Given the description of an element on the screen output the (x, y) to click on. 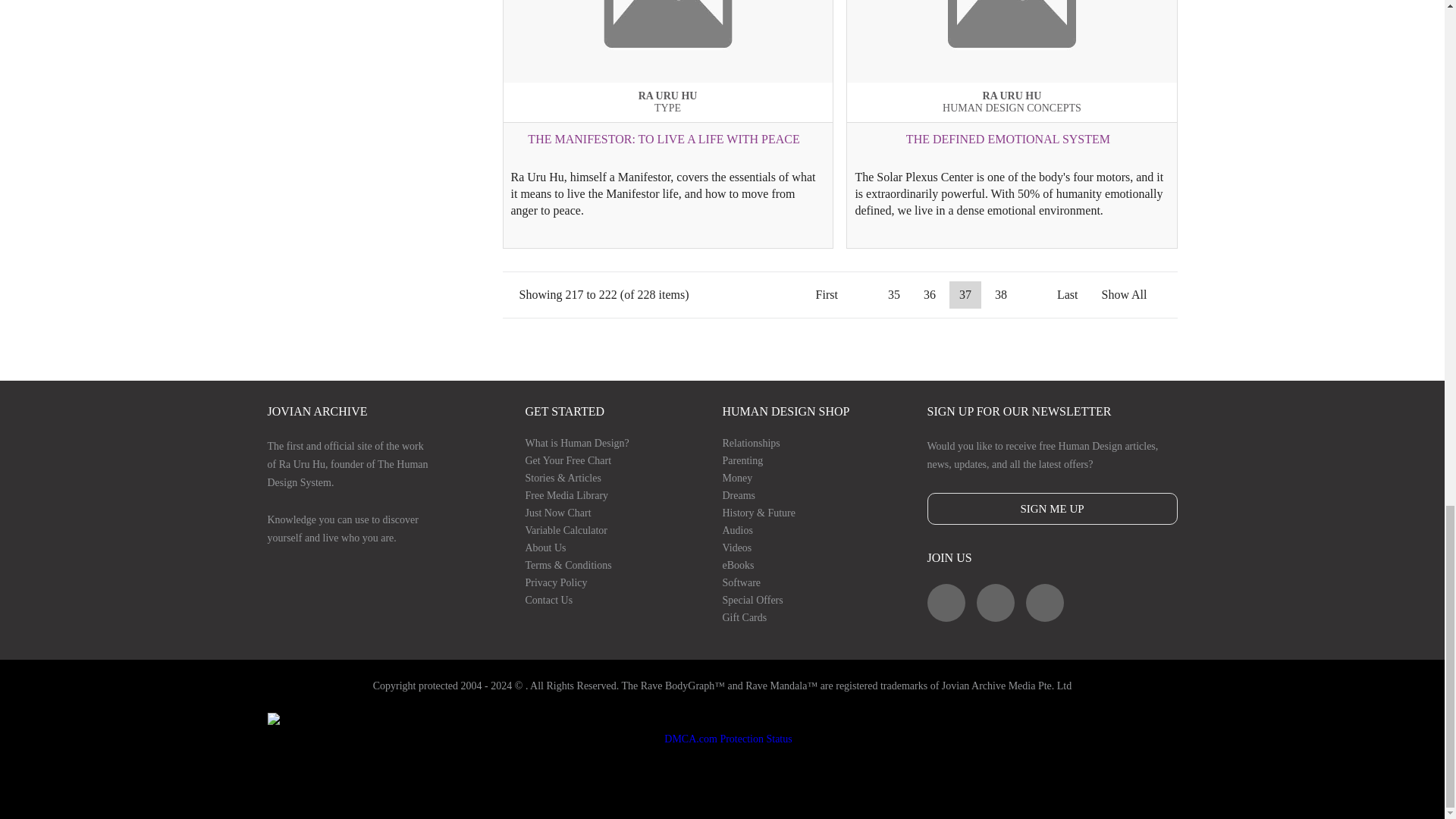
First (826, 294)
DMCA.com Protection Status (721, 738)
Last page (1066, 294)
